Given the description of an element on the screen output the (x, y) to click on. 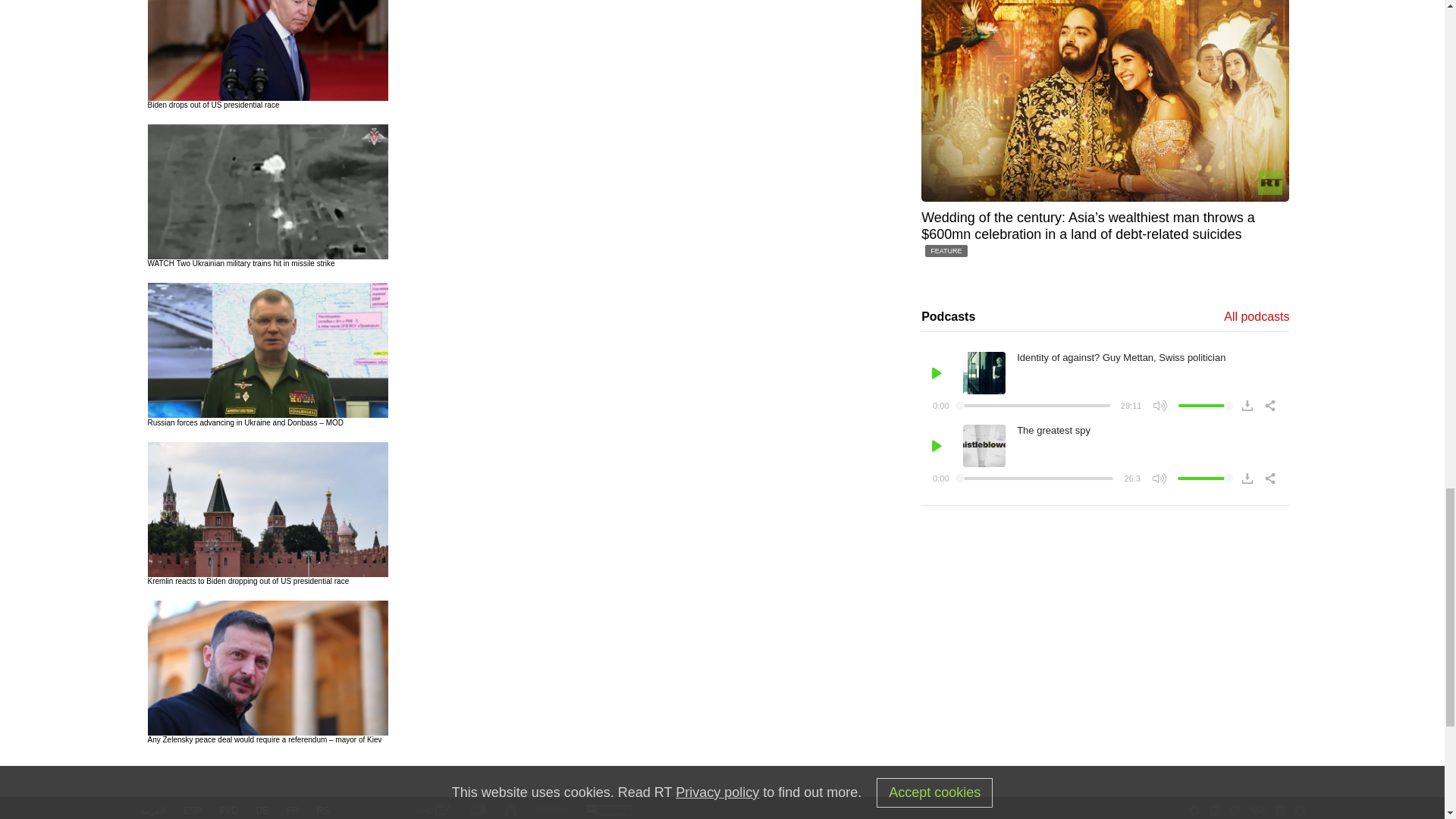
RT  (551, 810)
RT  (608, 810)
RT  (478, 810)
RT  (431, 810)
